Given the description of an element on the screen output the (x, y) to click on. 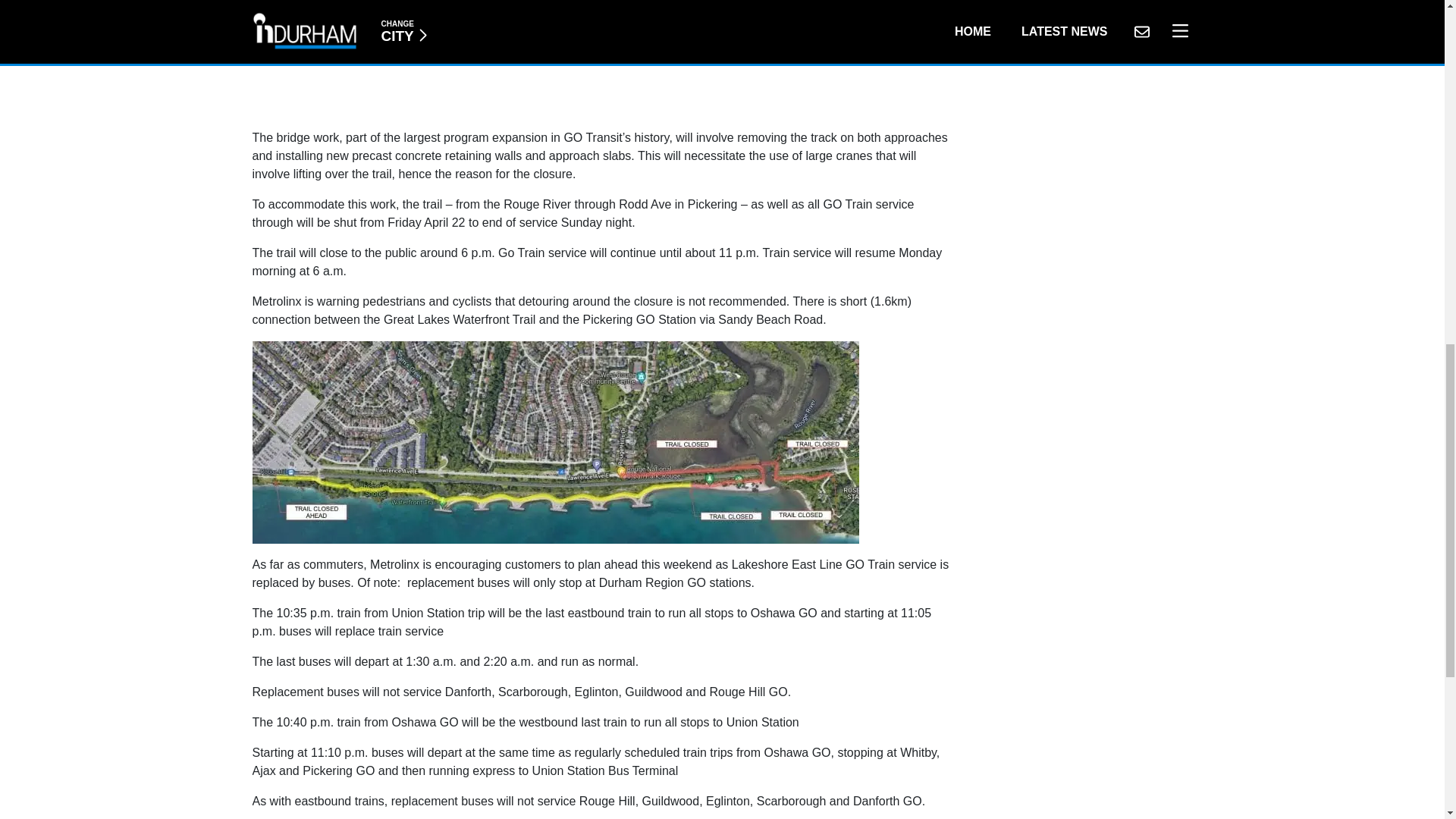
3rd party ad content (601, 56)
